Given the description of an element on the screen output the (x, y) to click on. 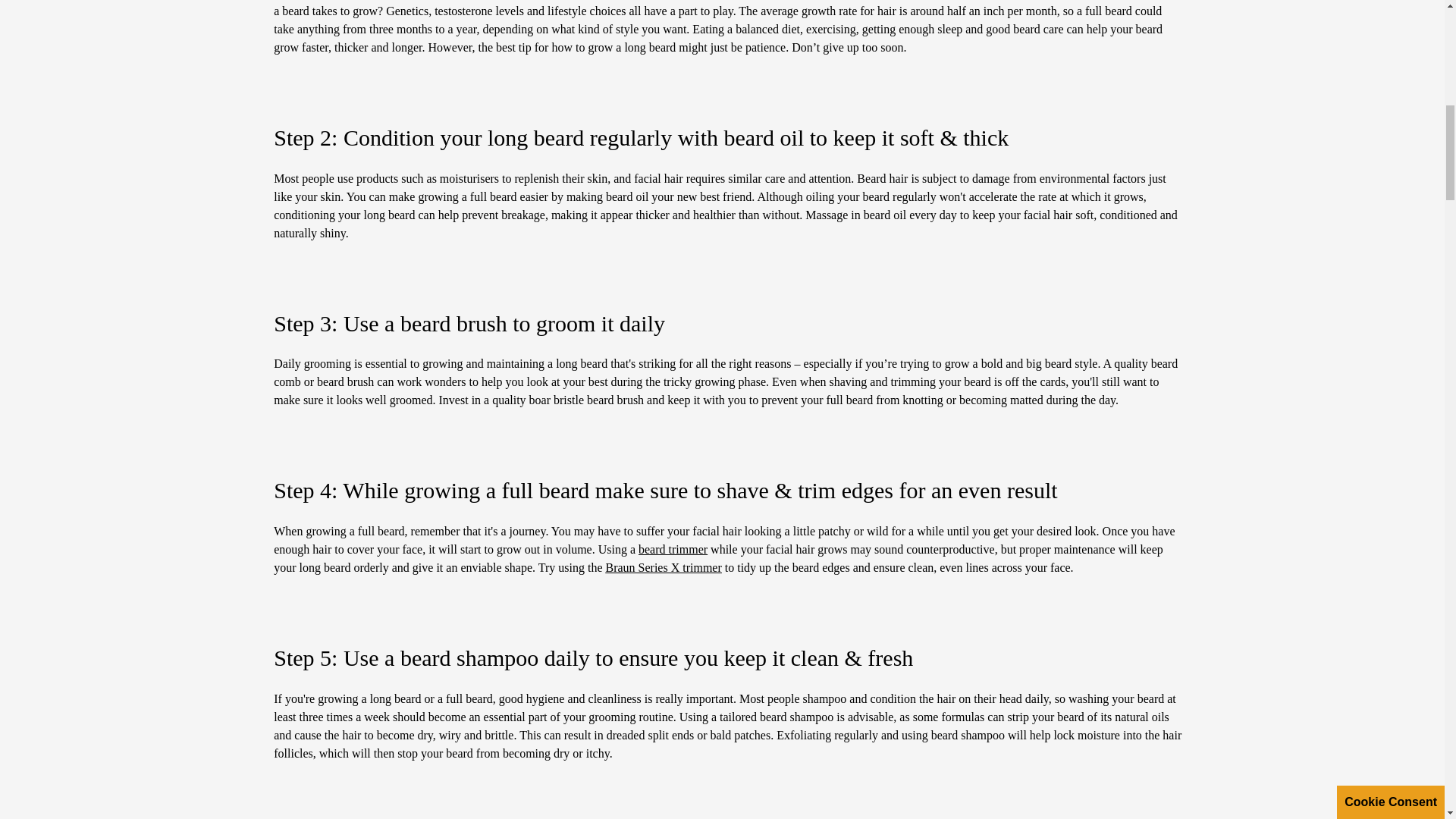
Braun Series X trimmer (662, 567)
Beard Trimmers (673, 549)
Series X (662, 567)
beard trimmer (673, 549)
